Given the description of an element on the screen output the (x, y) to click on. 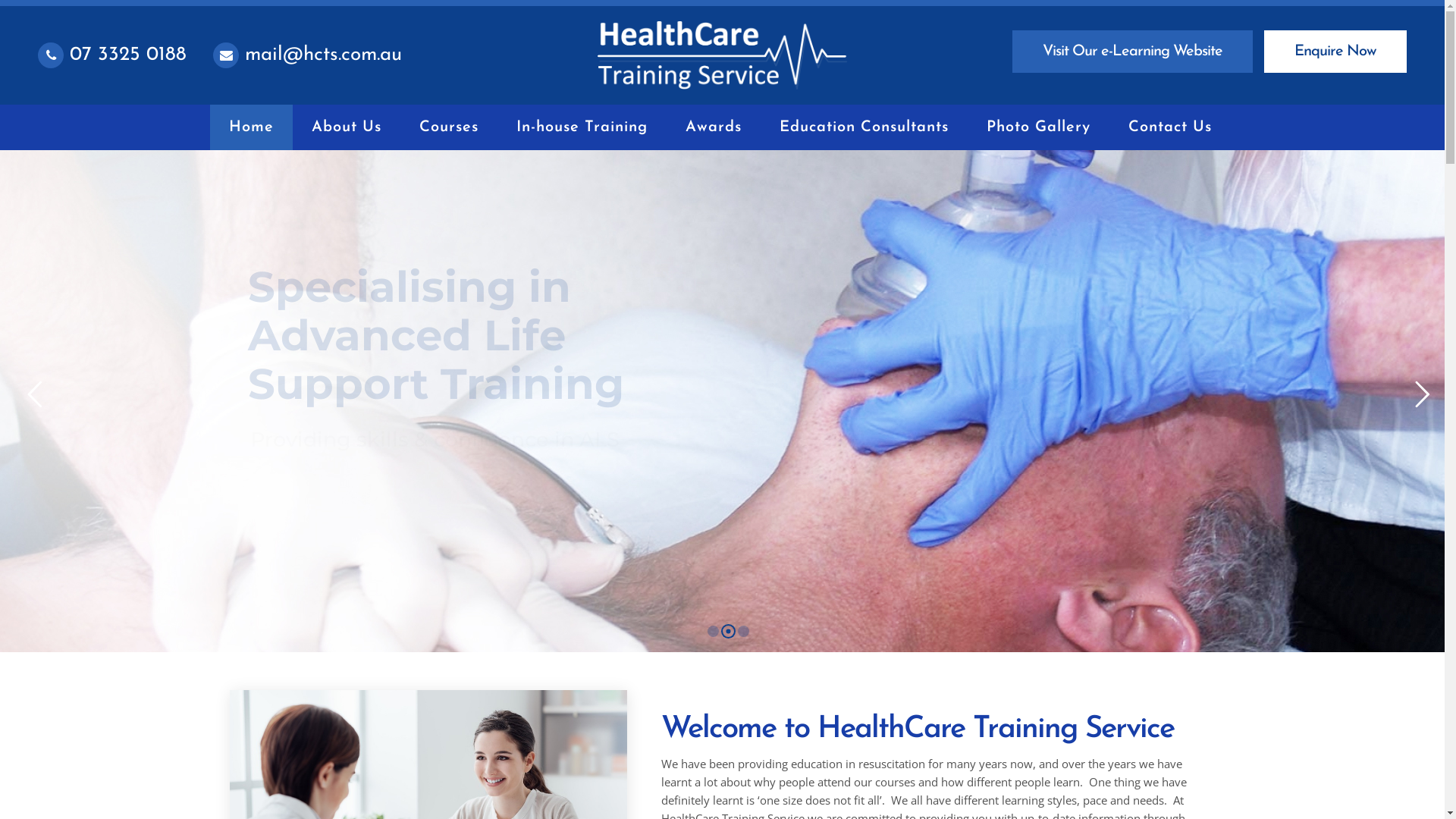
mail@hcts.com.au Element type: text (307, 54)
Home Element type: text (251, 127)
07 3325 0188 Element type: text (111, 54)
Education Consultants Element type: text (863, 127)
Courses Element type: text (448, 127)
Awards Element type: text (713, 127)
Visit Our e-Learning Website Element type: text (1132, 51)
About Us Element type: text (346, 127)
Photo Gallery Element type: text (1038, 127)
Find Out More Info Element type: text (343, 466)
In-house Training Element type: text (581, 127)
Enquire Now Element type: text (1335, 51)
Contact Us Element type: text (1169, 127)
